Given the description of an element on the screen output the (x, y) to click on. 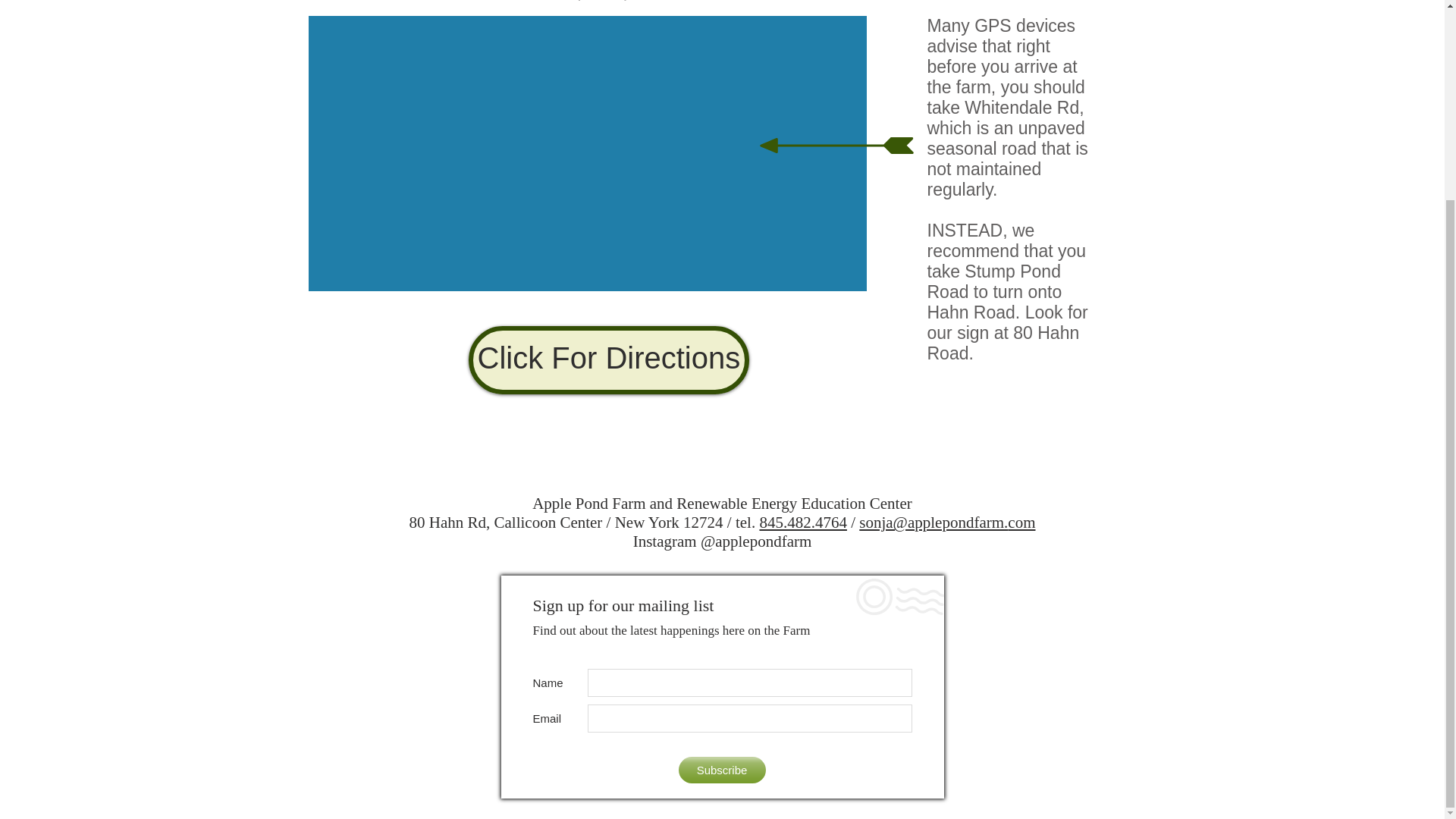
845.482.4764 (802, 522)
Click For Directions (608, 359)
Subscribe (721, 769)
